Given the description of an element on the screen output the (x, y) to click on. 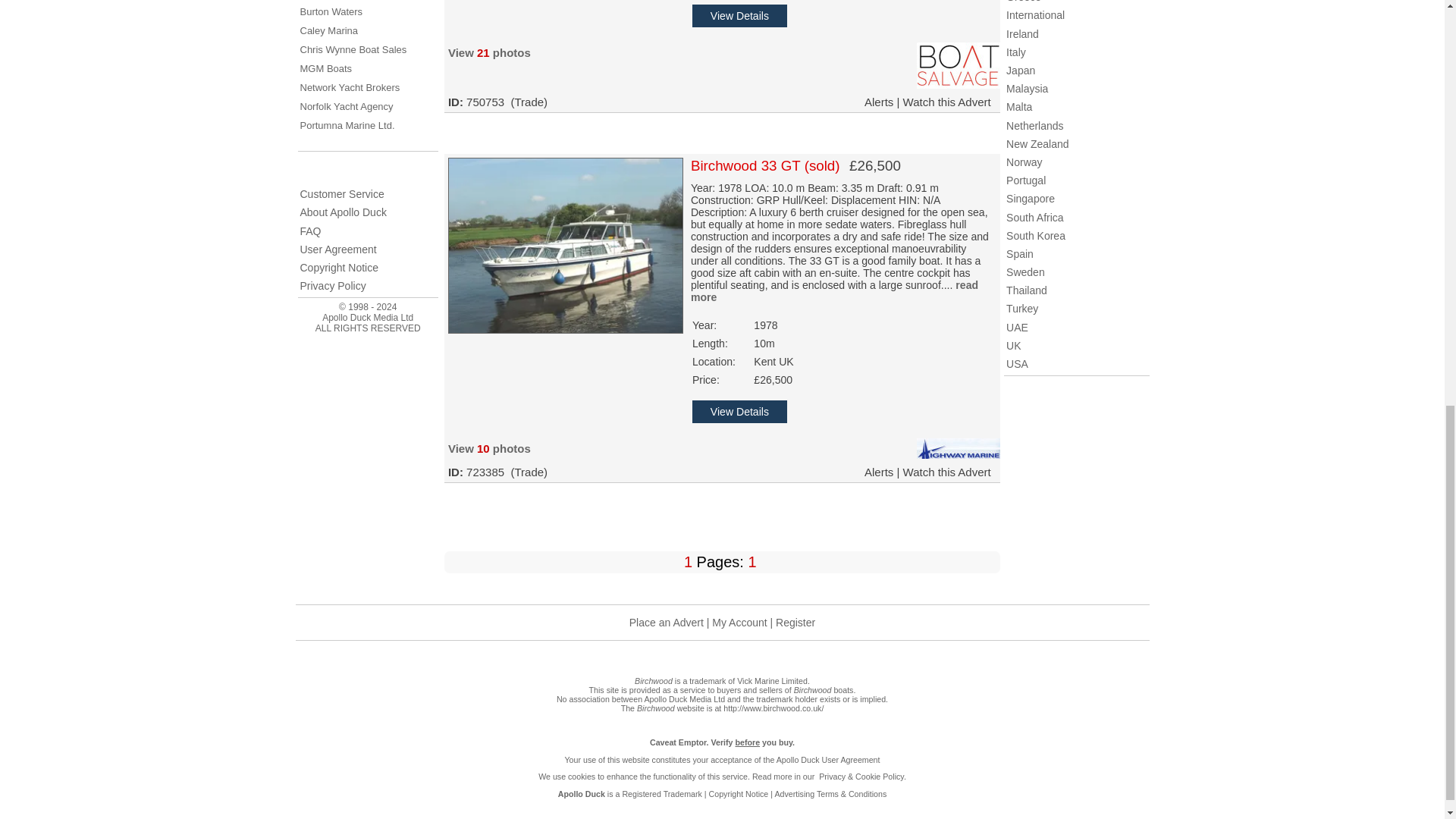
Portumna Marine Ltd., Ireland (346, 125)
Burton Waters, UK (330, 11)
Chris Wynne Boat Sales, Ireland (353, 49)
Caley Marina, UK (328, 30)
MGM Boats, Ireland (325, 68)
Norfolk Yacht Agency, UK (346, 106)
Network Yacht Brokers, UK (349, 87)
